Given the description of an element on the screen output the (x, y) to click on. 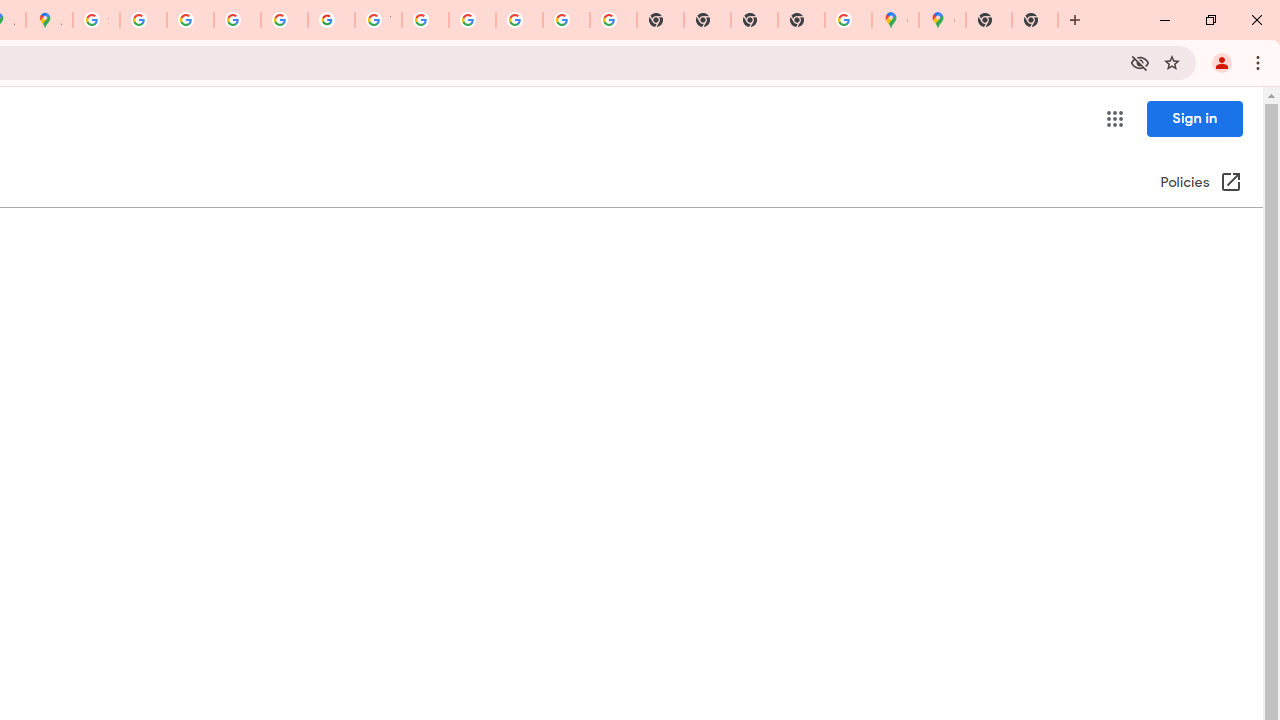
Use Google Maps in Space - Google Maps Help (848, 20)
Google Maps (895, 20)
New Tab (801, 20)
